Given the description of an element on the screen output the (x, y) to click on. 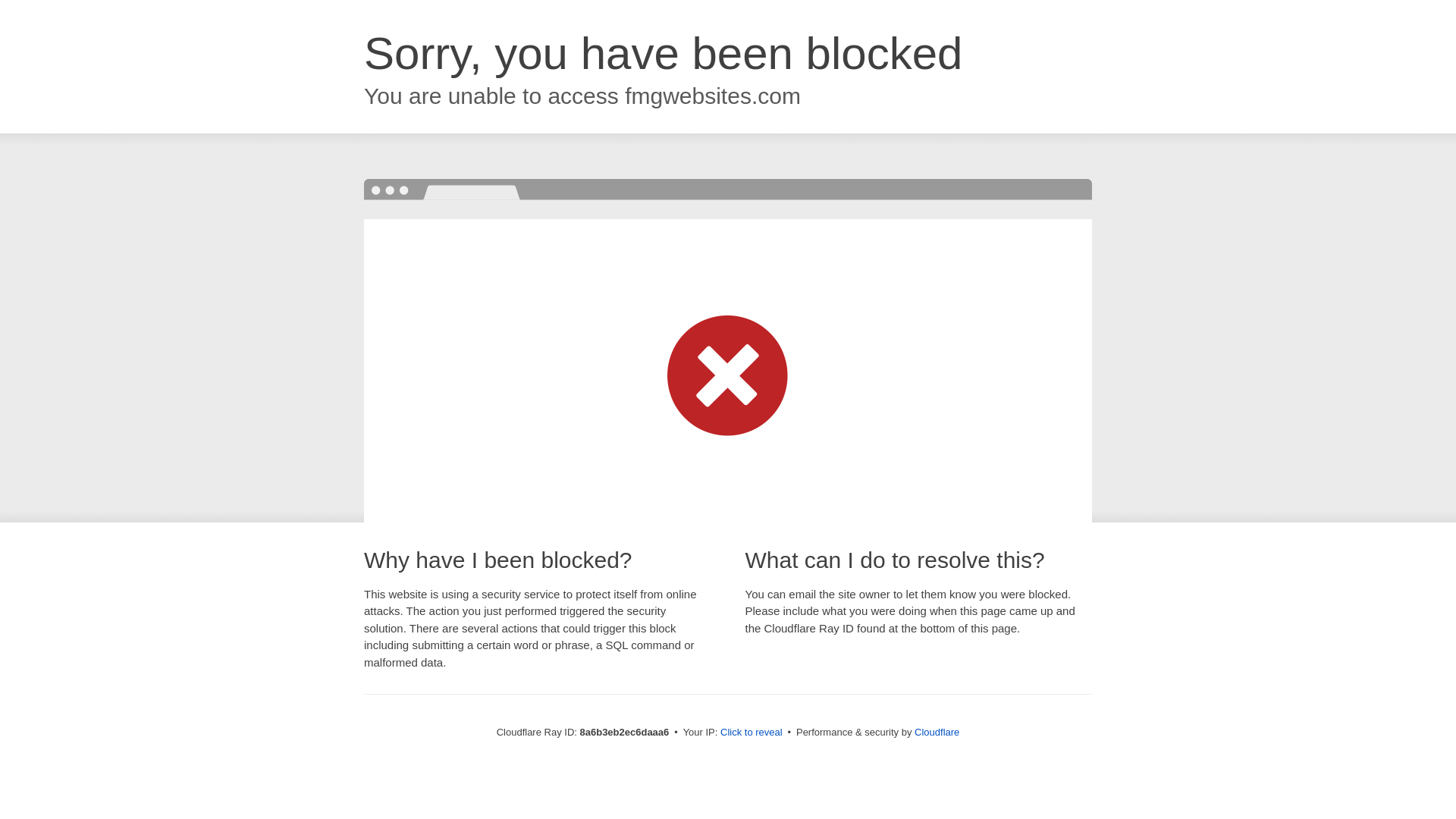
Click to reveal (751, 732)
Cloudflare (936, 731)
